Given the description of an element on the screen output the (x, y) to click on. 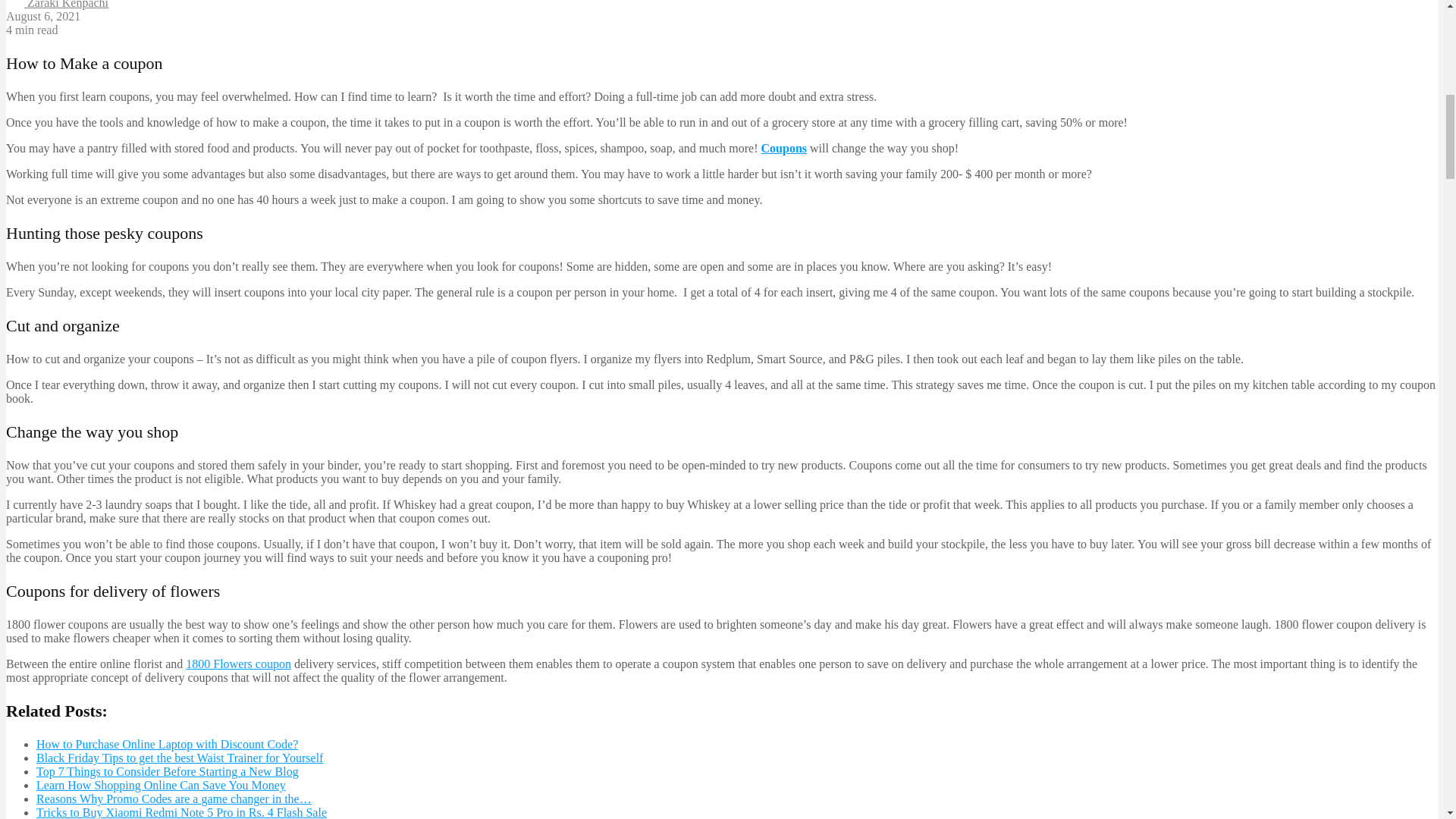
Top 7 Things to Consider Before Starting a New Blog (167, 771)
1800 Flowers coupon (238, 663)
Zaraki Kenpachi (56, 4)
Tricks to Buy Xiaomi Redmi Note 5 Pro in Rs. 4 Flash Sale (181, 812)
How to Purchase Online Laptop with Discount Code? (167, 744)
Learn How Shopping Online Can Save You Money (160, 784)
Black Friday Tips to get the best Waist Trainer for Yourself (179, 757)
Coupons (783, 147)
